Given the description of an element on the screen output the (x, y) to click on. 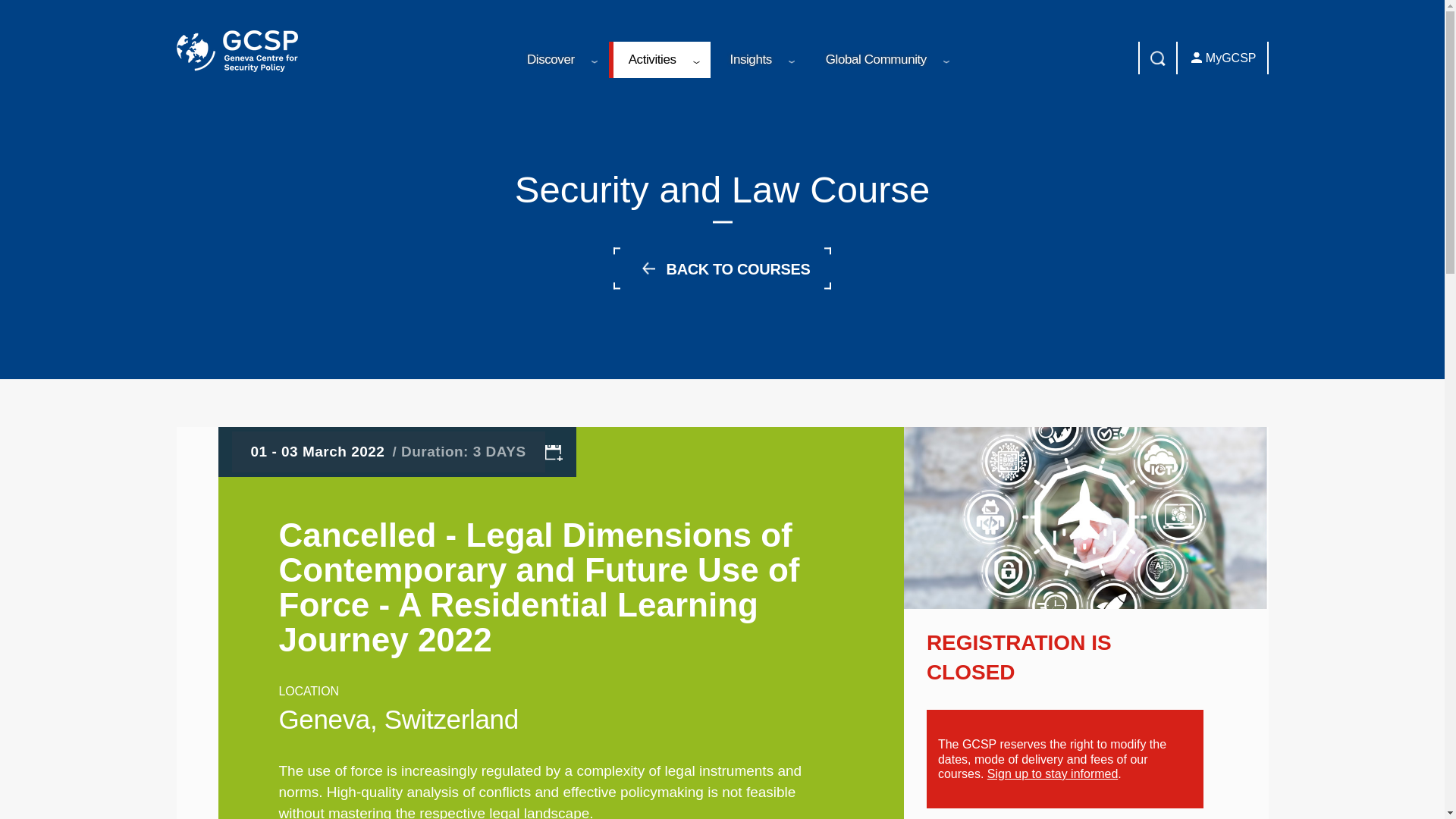
Discover (557, 59)
